Given the description of an element on the screen output the (x, y) to click on. 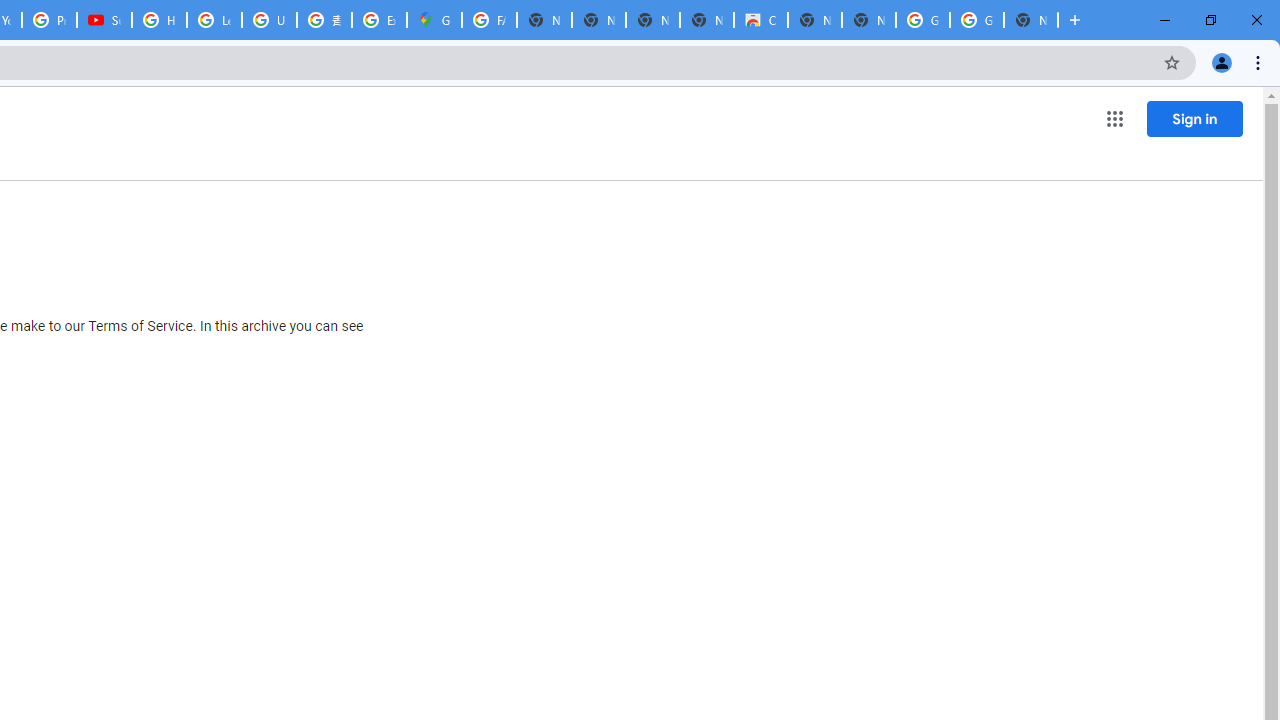
Google Images (976, 20)
Google Images (922, 20)
Google Maps (434, 20)
Google apps (1114, 118)
Explore new street-level details - Google Maps Help (379, 20)
